Given the description of an element on the screen output the (x, y) to click on. 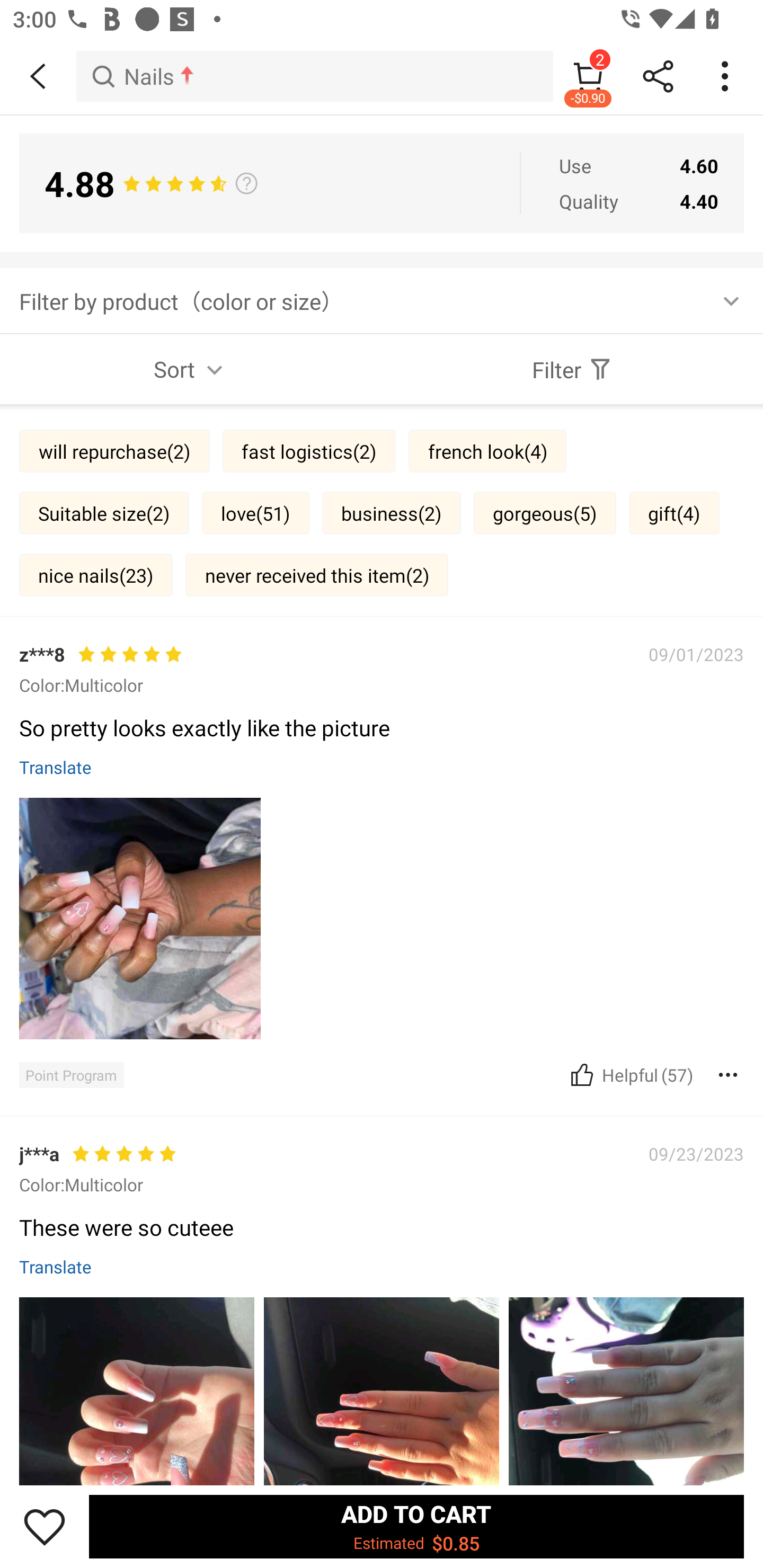
BACK (38, 75)
2 -$0.90 (588, 75)
Nails (314, 75)
Filter by product（color or size） (381, 300)
Sort (190, 368)
Filter (572, 368)
will repurchase(2) (114, 450)
fast logistics(2) (308, 450)
french look(4) (487, 450)
Suitable size(2) (104, 513)
love(51) (255, 513)
business(2) (390, 513)
gorgeous(5) (544, 513)
gift(4) (673, 513)
nice nails(23) (95, 574)
never received this item(2) (316, 574)
Translate (55, 767)
Cancel Helpful Was this article helpful? (57) (629, 1074)
Point Program (71, 1074)
Qty: 1 (381, 1216)
Translate (55, 1265)
ADD TO CART Estimated   $0.85 (416, 1526)
Save (44, 1526)
